Given the description of an element on the screen output the (x, y) to click on. 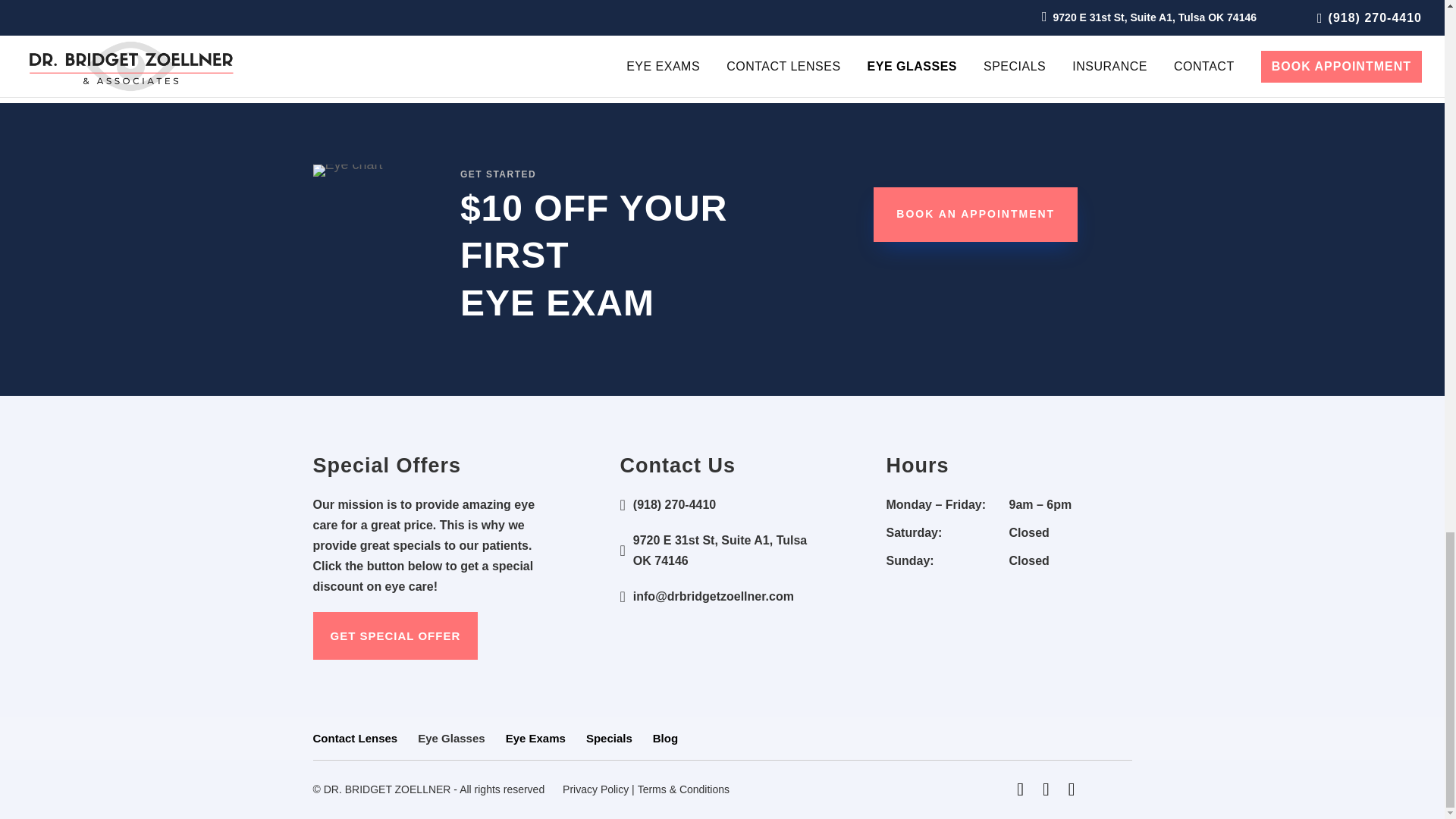
BOOK AN APPOINTMENT (975, 214)
CALL 918-270-4410 (721, 20)
Eye chart (347, 170)
Specials (608, 738)
GET SPECIAL OFFER (395, 635)
Privacy Policy (595, 788)
Contact Lenses (355, 738)
Eye Glasses (450, 738)
Blog (665, 738)
Eye Exams (535, 738)
